Given the description of an element on the screen output the (x, y) to click on. 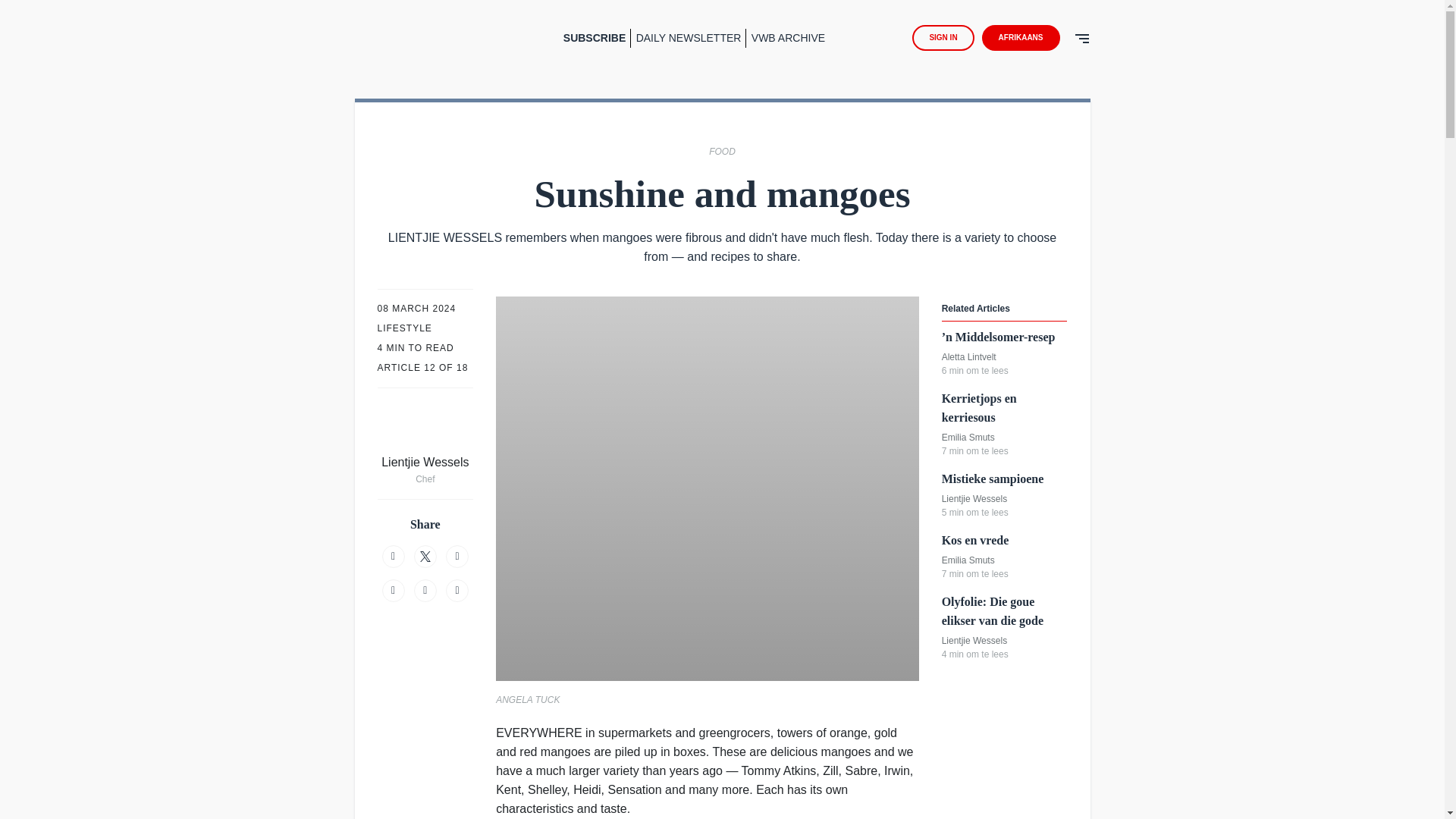
SIGN IN (943, 37)
Sunshine and mangoes (415, 38)
DAILY NEWSLETTER (691, 37)
SIGN IN (946, 37)
AFRIKAANS (1020, 37)
AFRIKAANS (1024, 37)
SUBSCRIBE (596, 37)
VWB ARCHIVE (788, 37)
